Given the description of an element on the screen output the (x, y) to click on. 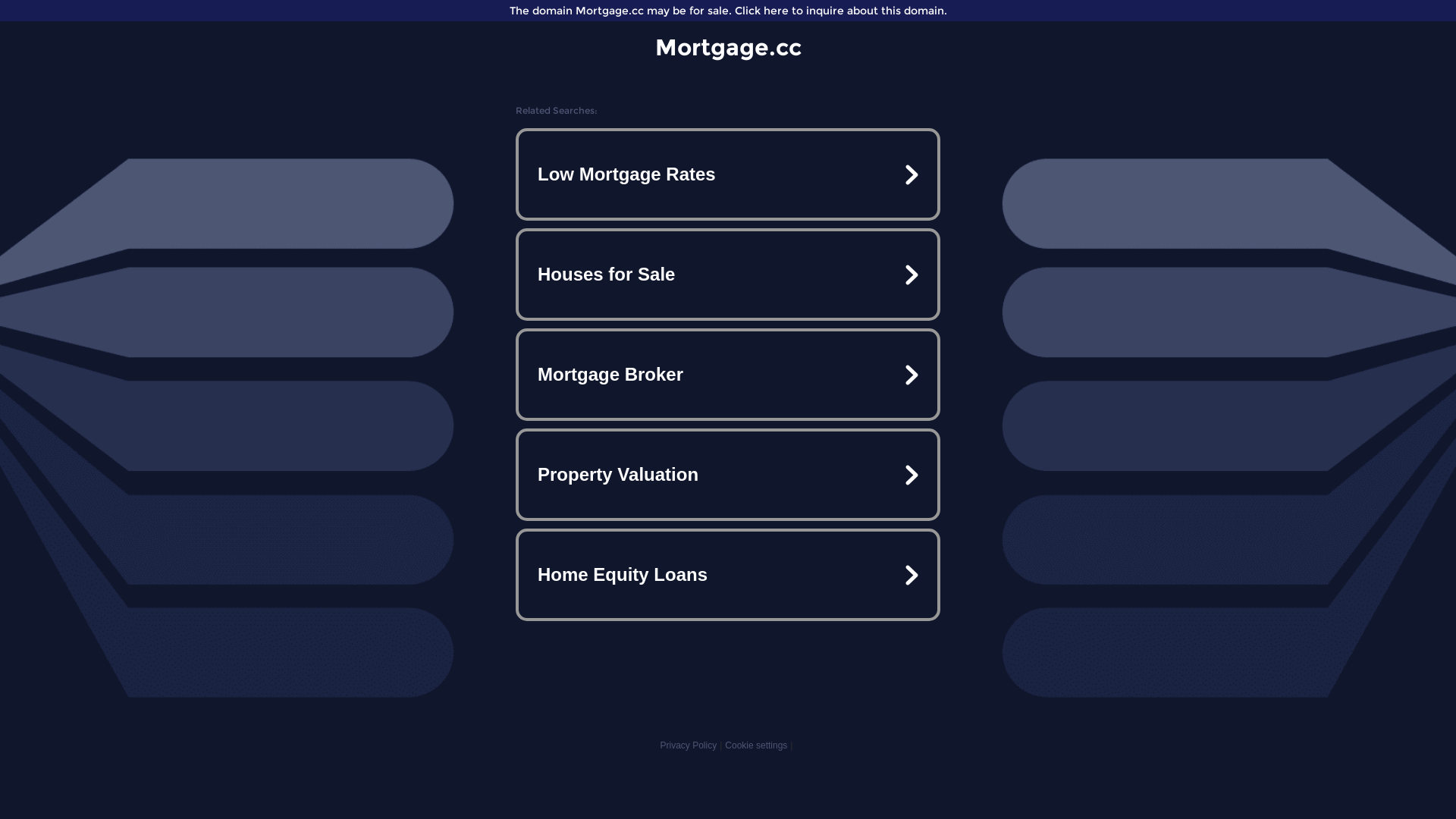
Home Equity Loans Element type: text (727, 574)
Low Mortgage Rates Element type: text (727, 174)
Property Valuation Element type: text (727, 474)
Houses for Sale Element type: text (727, 274)
Privacy Policy Element type: text (687, 745)
Mortgage.cc Element type: text (728, 47)
Mortgage Broker Element type: text (727, 374)
Cookie settings Element type: text (755, 745)
